Given the description of an element on the screen output the (x, y) to click on. 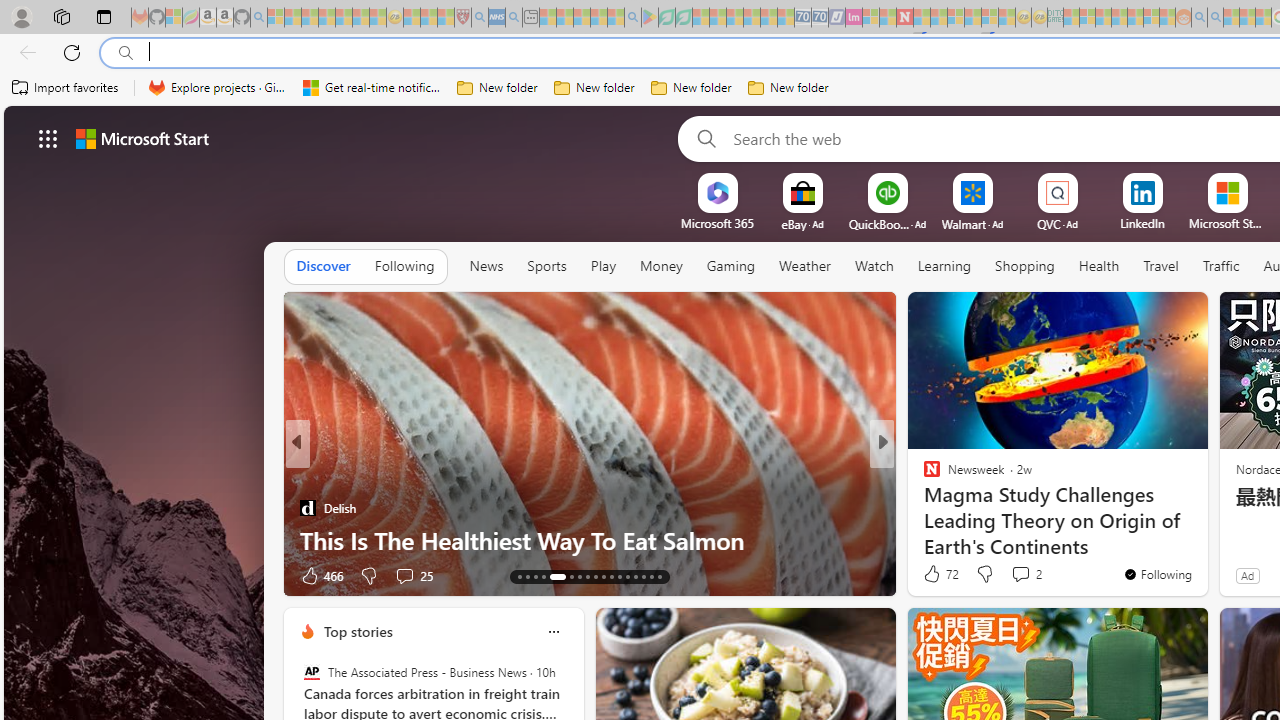
Weather (804, 265)
AutomationID: tab-13 (518, 576)
Dislike (984, 574)
View comments 29 Comment (1019, 575)
Gaming (730, 265)
View comments 29 Comment (1029, 574)
AutomationID: tab-14 (527, 576)
AutomationID: tab-23 (610, 576)
Discover (323, 267)
View comments 2 Comment (1019, 573)
